Given the description of an element on the screen output the (x, y) to click on. 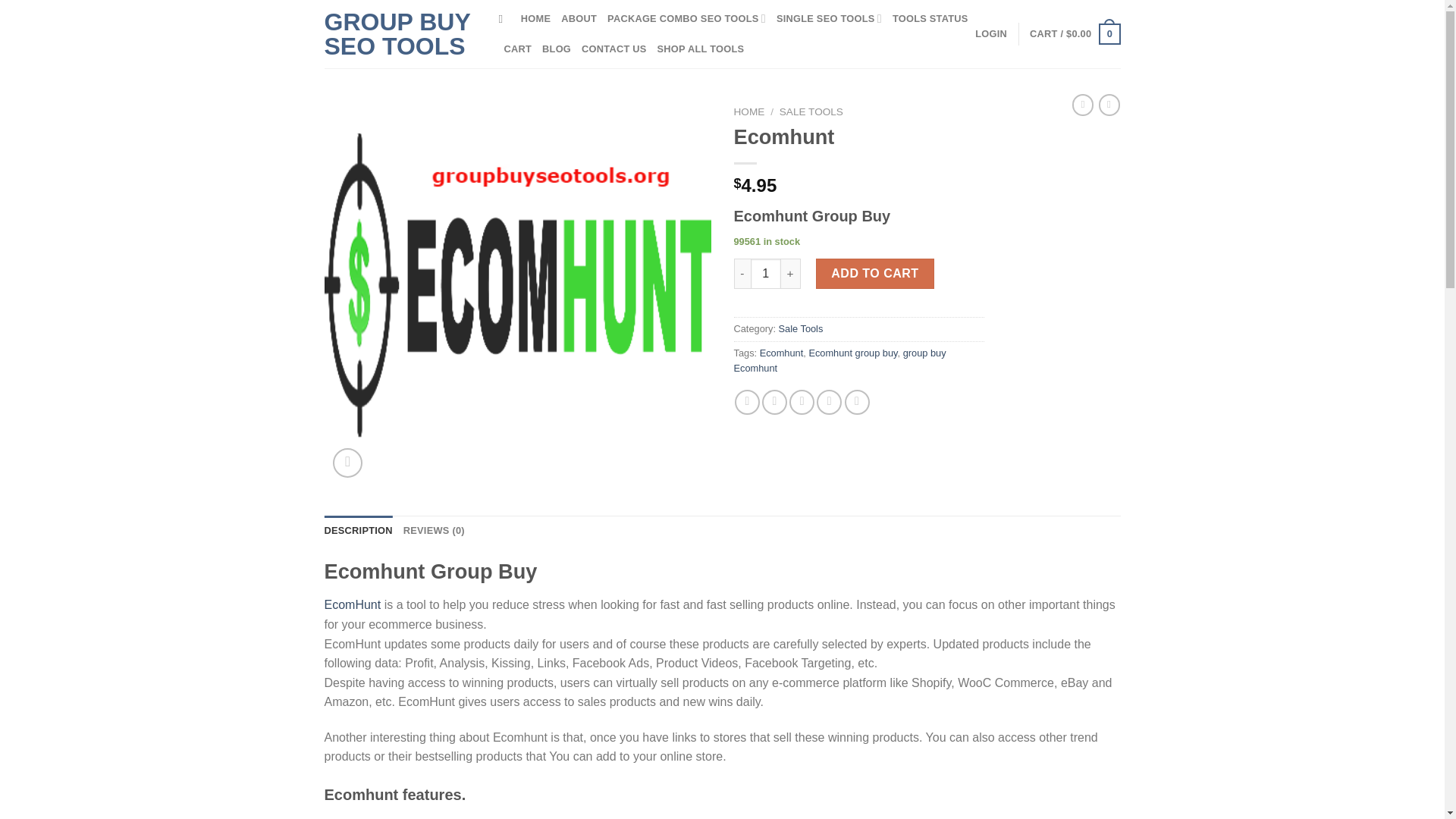
BLOG (555, 49)
Zoom (347, 462)
Share on Twitter (774, 401)
LOGIN (991, 33)
Share on Facebook (747, 401)
SALE TOOLS (810, 111)
TOOLS STATUS (930, 19)
GROUP BUY SEO TOOLS (400, 33)
PACKAGE COMBO SEO TOOLS (686, 19)
SINGLE SEO TOOLS (829, 19)
ADD TO CART (874, 273)
1 (765, 273)
CONTACT US (613, 49)
Pin on Pinterest (828, 401)
